Given the description of an element on the screen output the (x, y) to click on. 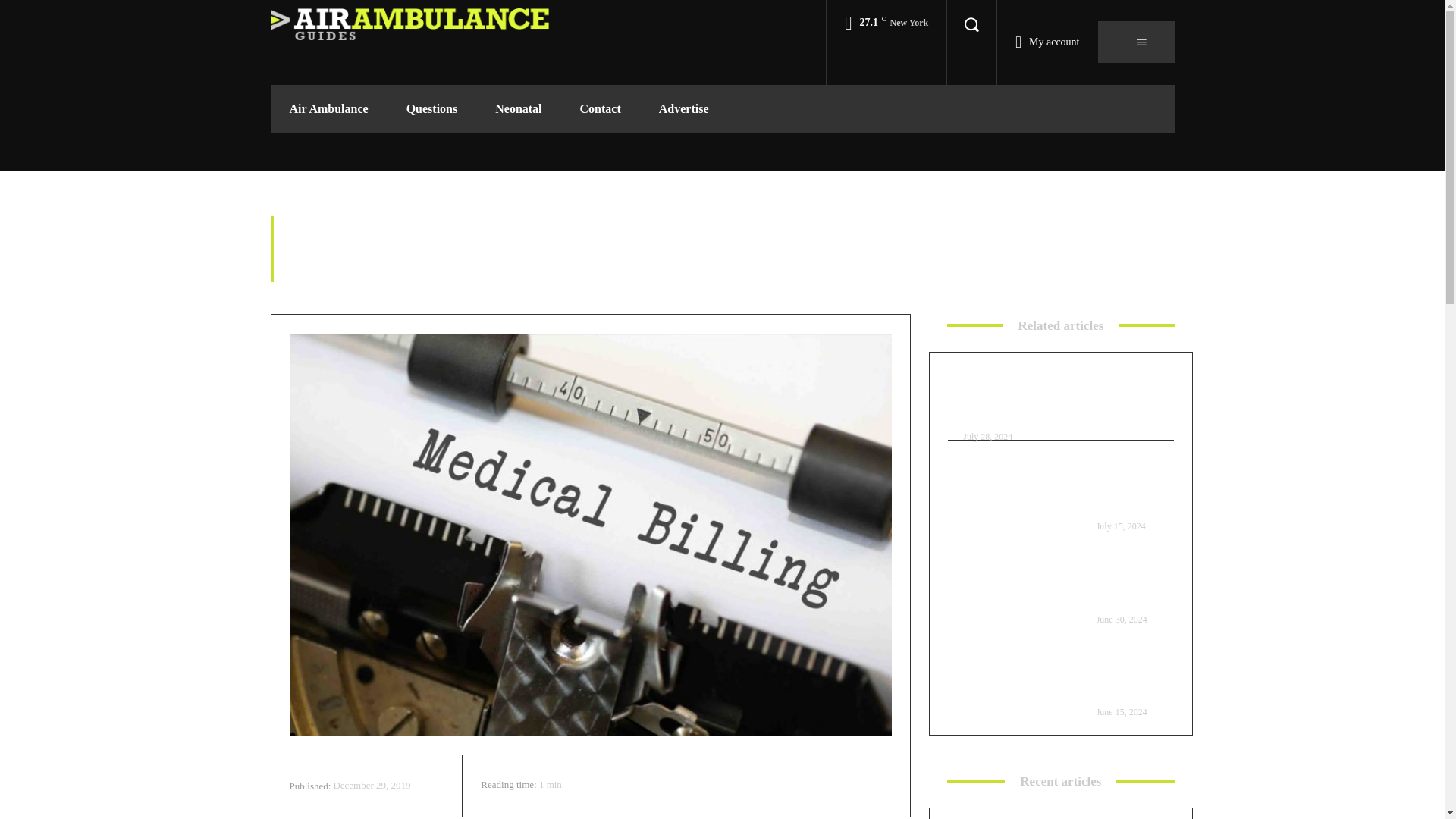
Pinterest (757, 785)
Twitter (722, 785)
Neonatal (518, 109)
Facebook (687, 785)
Contact (600, 109)
WhatsApp (792, 785)
Questions (432, 109)
Air Ambulance (328, 109)
Advertise (684, 109)
Financial (1152, 272)
